Given the description of an element on the screen output the (x, y) to click on. 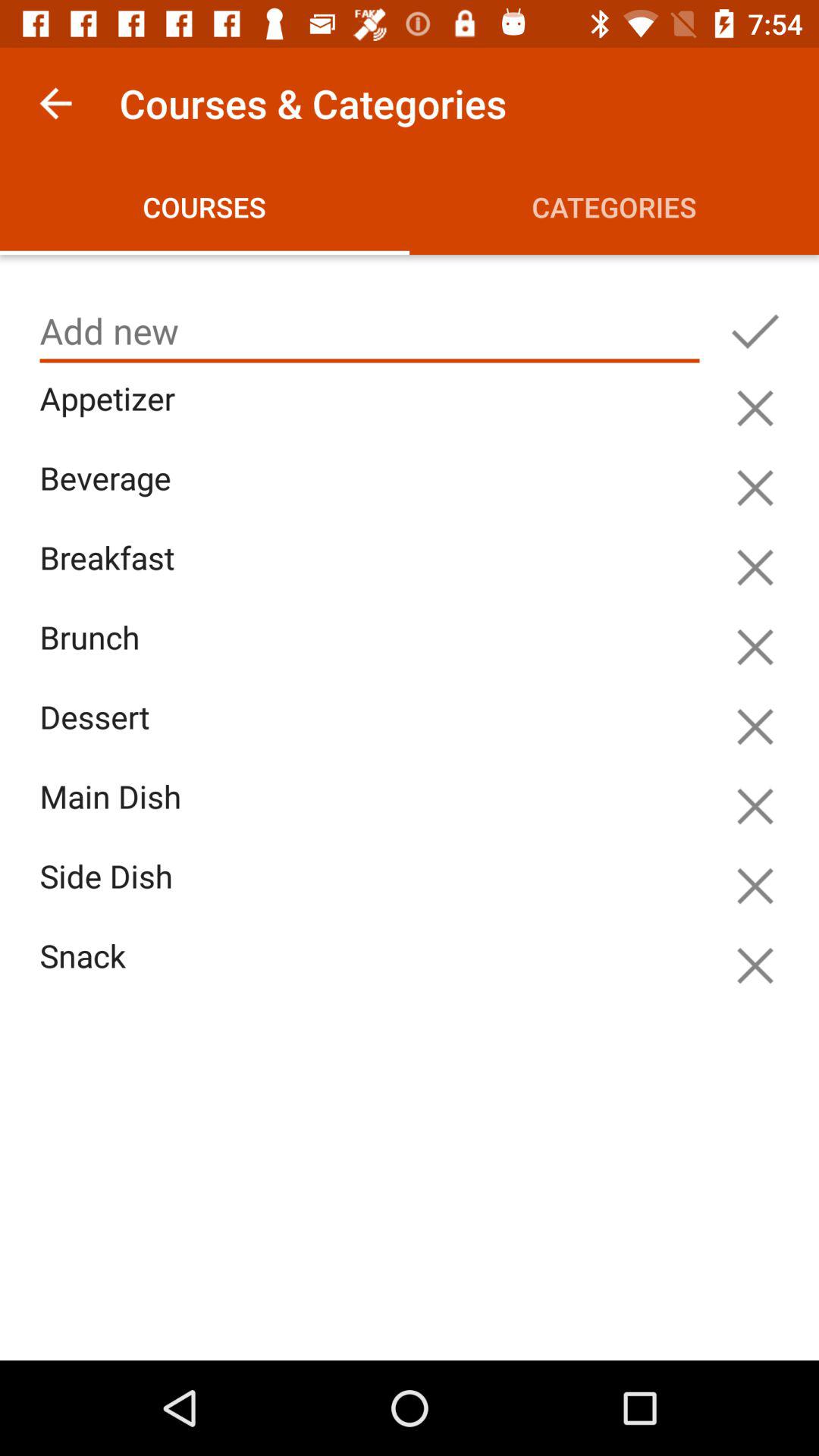
select item below the appetizer item (373, 495)
